Given the description of an element on the screen output the (x, y) to click on. 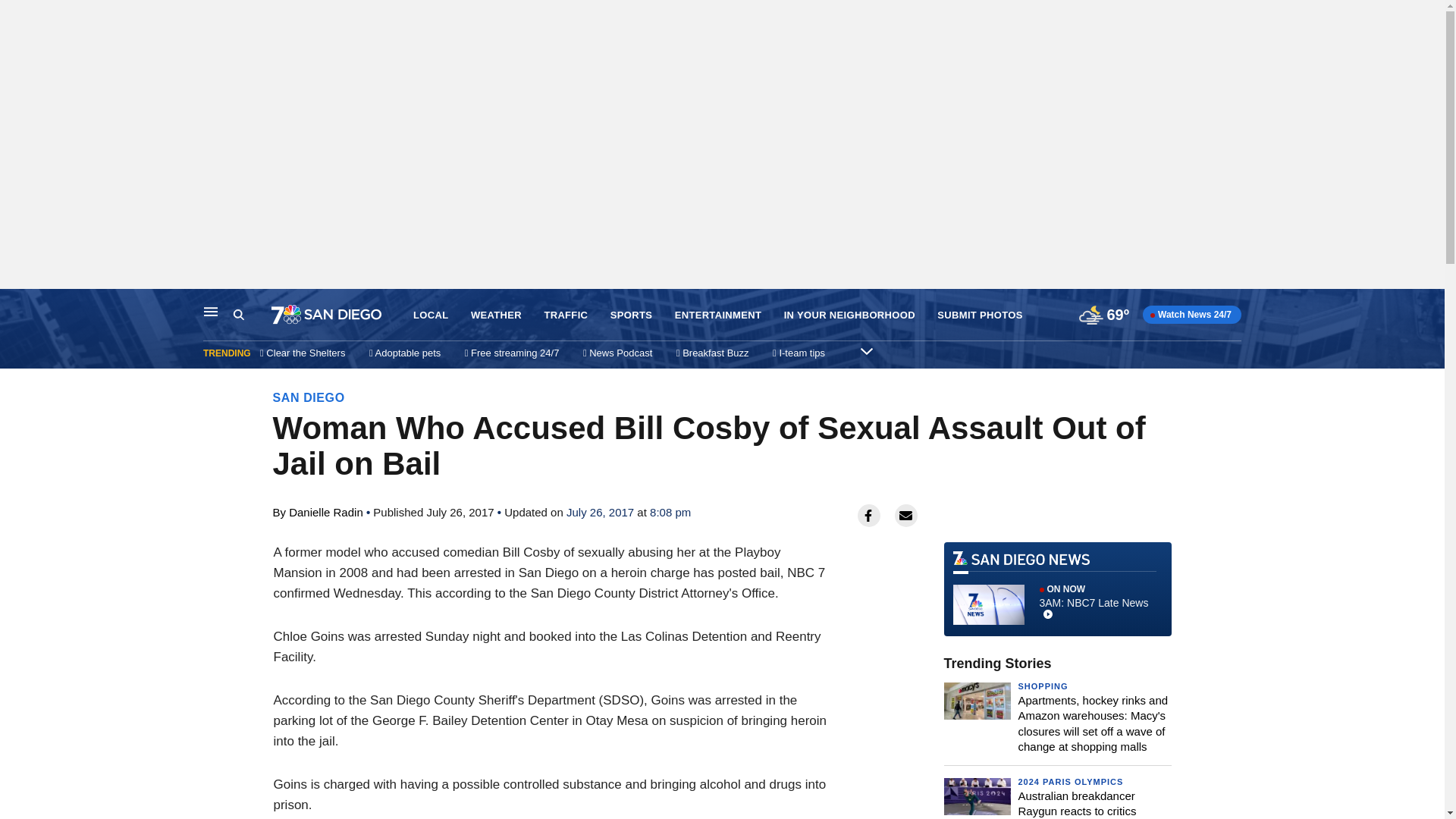
IN YOUR NEIGHBORHOOD (849, 315)
SPORTS (1056, 589)
Search (631, 315)
3rd party ad content (252, 314)
SUBMIT PHOTOS (495, 315)
ENTERTAINMENT (979, 315)
Search (718, 315)
TRAFFIC (238, 314)
